Given the description of an element on the screen output the (x, y) to click on. 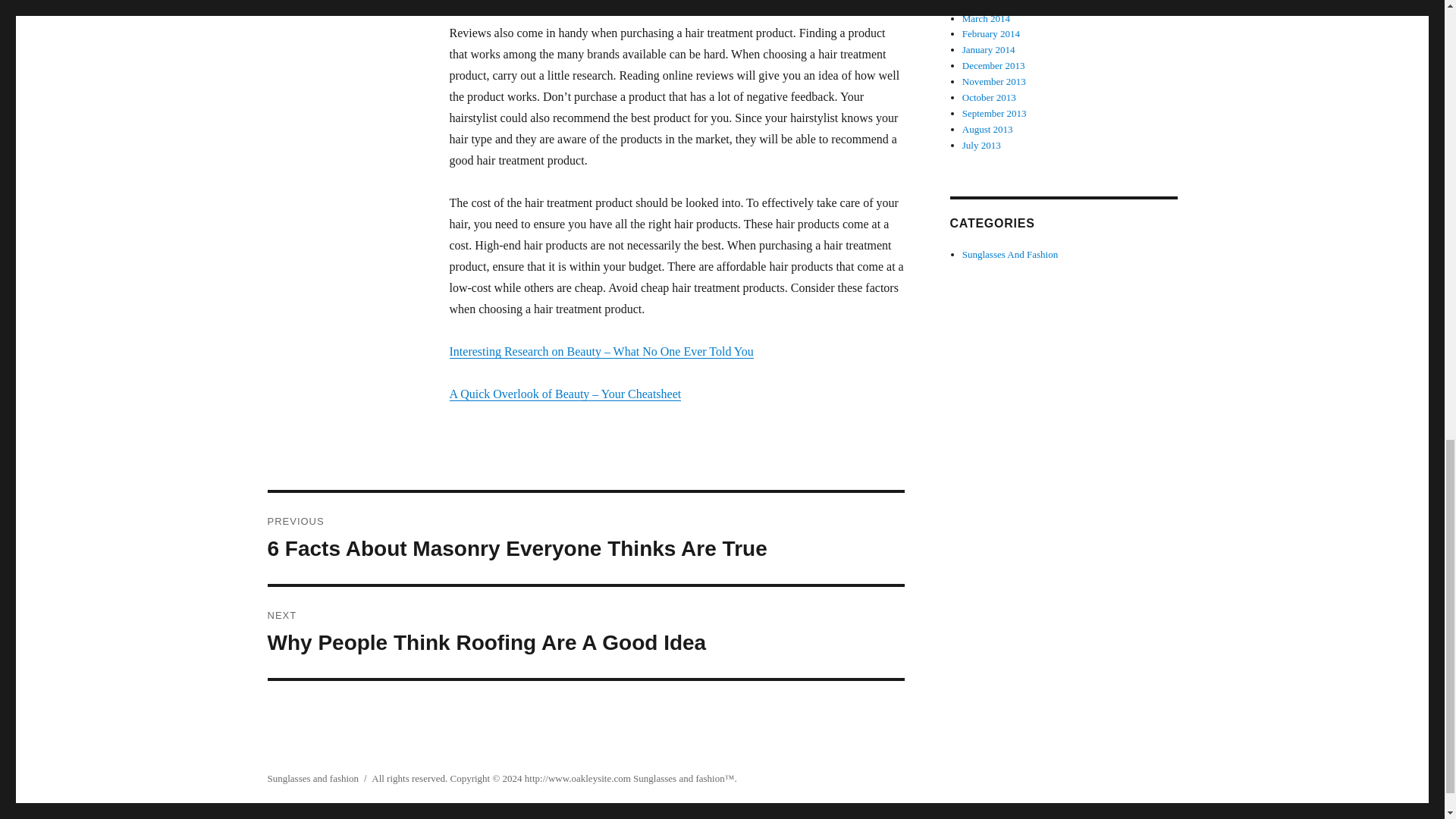
November 2013 (994, 81)
August 2013 (987, 129)
January 2014 (988, 49)
Sunglasses and fashion (679, 778)
December 2013 (585, 632)
March 2014 (993, 65)
October 2013 (986, 17)
July 2013 (989, 97)
Sunglasses And Fashion (981, 144)
Sunglasses and fashion (1010, 254)
September 2013 (312, 778)
April 2014 (994, 112)
February 2014 (984, 4)
